Given the description of an element on the screen output the (x, y) to click on. 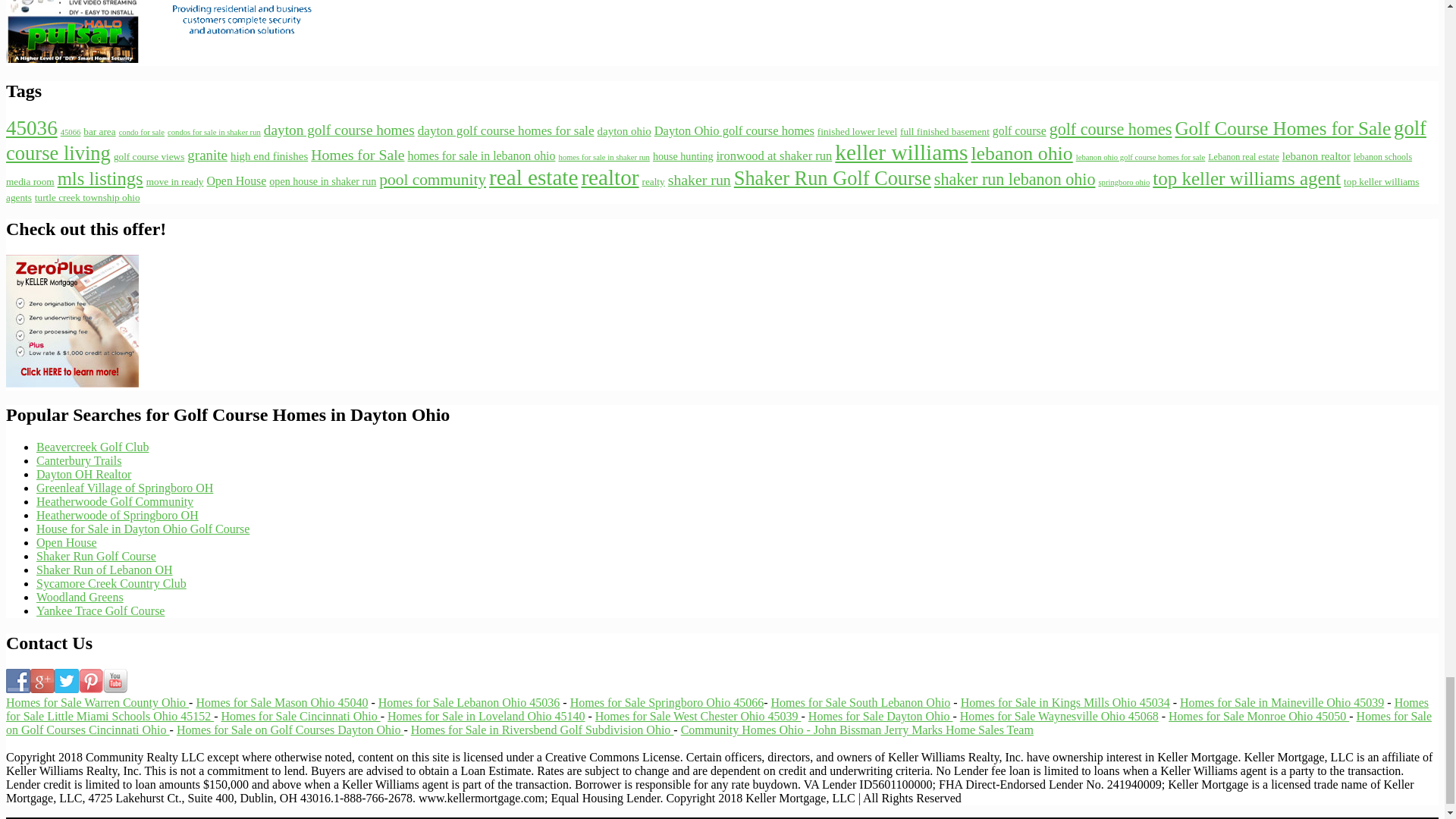
Follow Us on Facebook (17, 680)
